Given the description of an element on the screen output the (x, y) to click on. 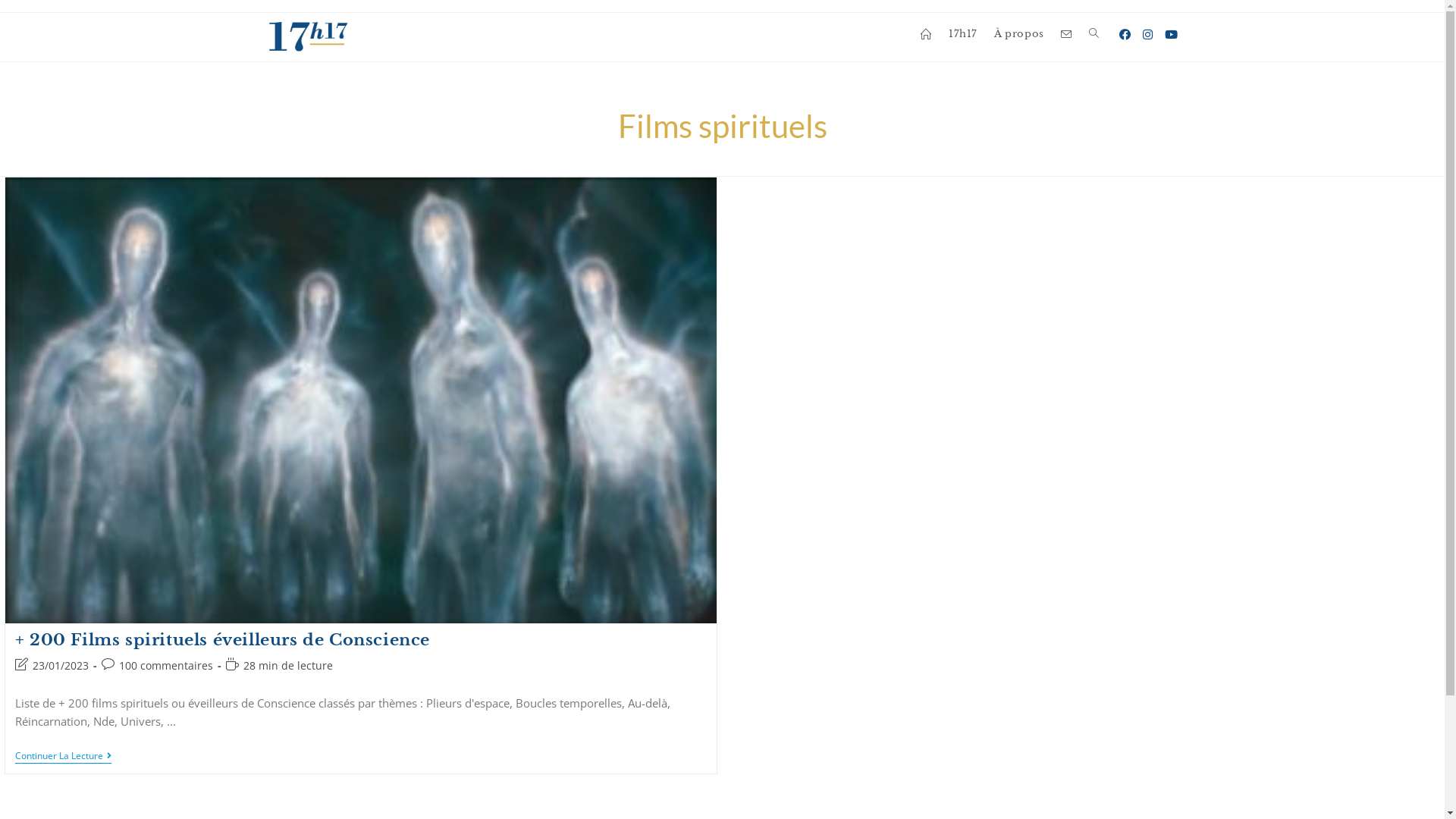
17h17 Element type: text (962, 33)
Continuer La Lecture Element type: text (63, 756)
100 commentaires Element type: text (166, 665)
